Given the description of an element on the screen output the (x, y) to click on. 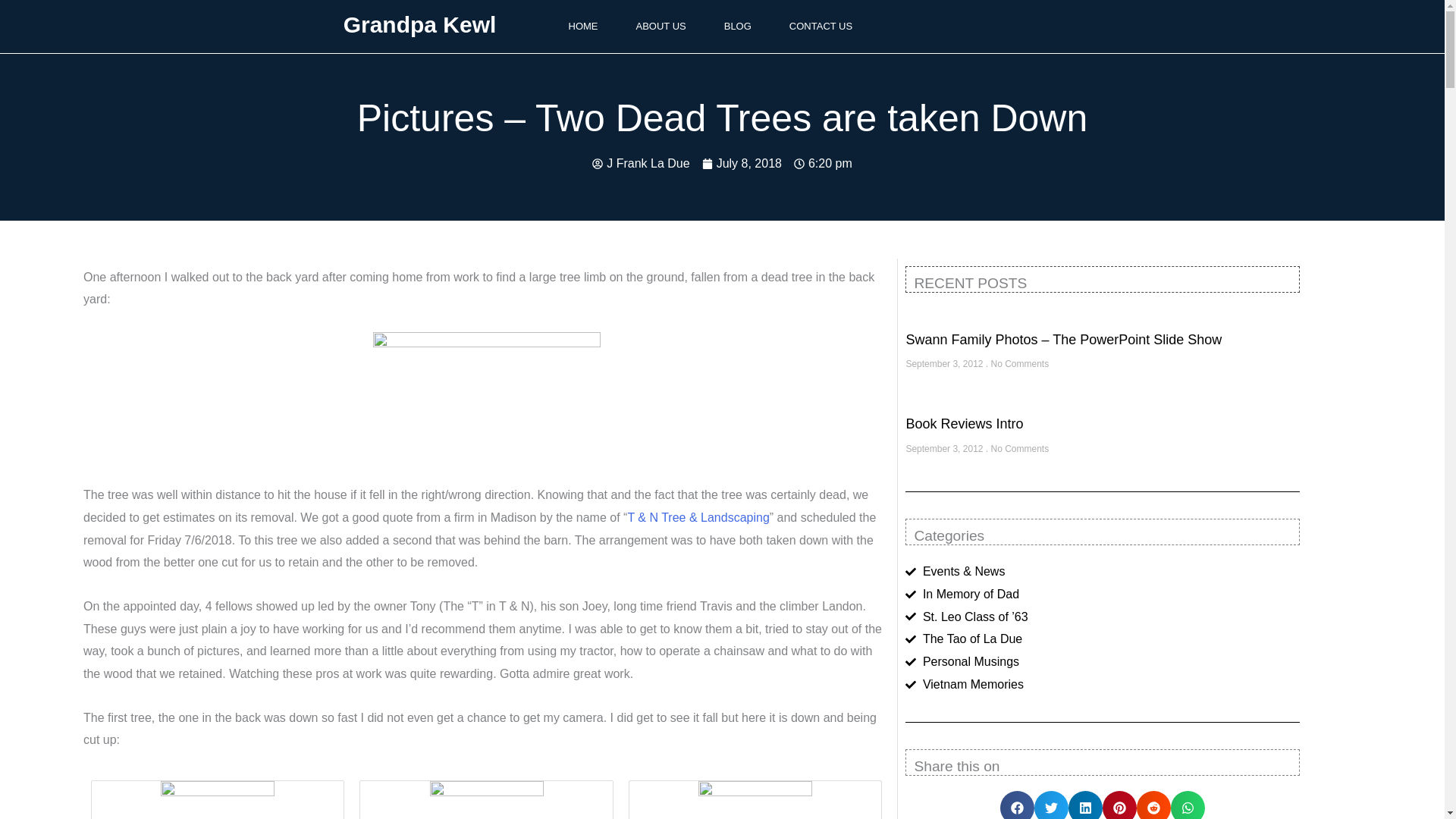
HOME (581, 26)
July 8, 2018 (741, 163)
BLOG (737, 26)
ABOUT US (660, 26)
J Frank La Due (640, 163)
CONTACT US (820, 26)
